Given the description of an element on the screen output the (x, y) to click on. 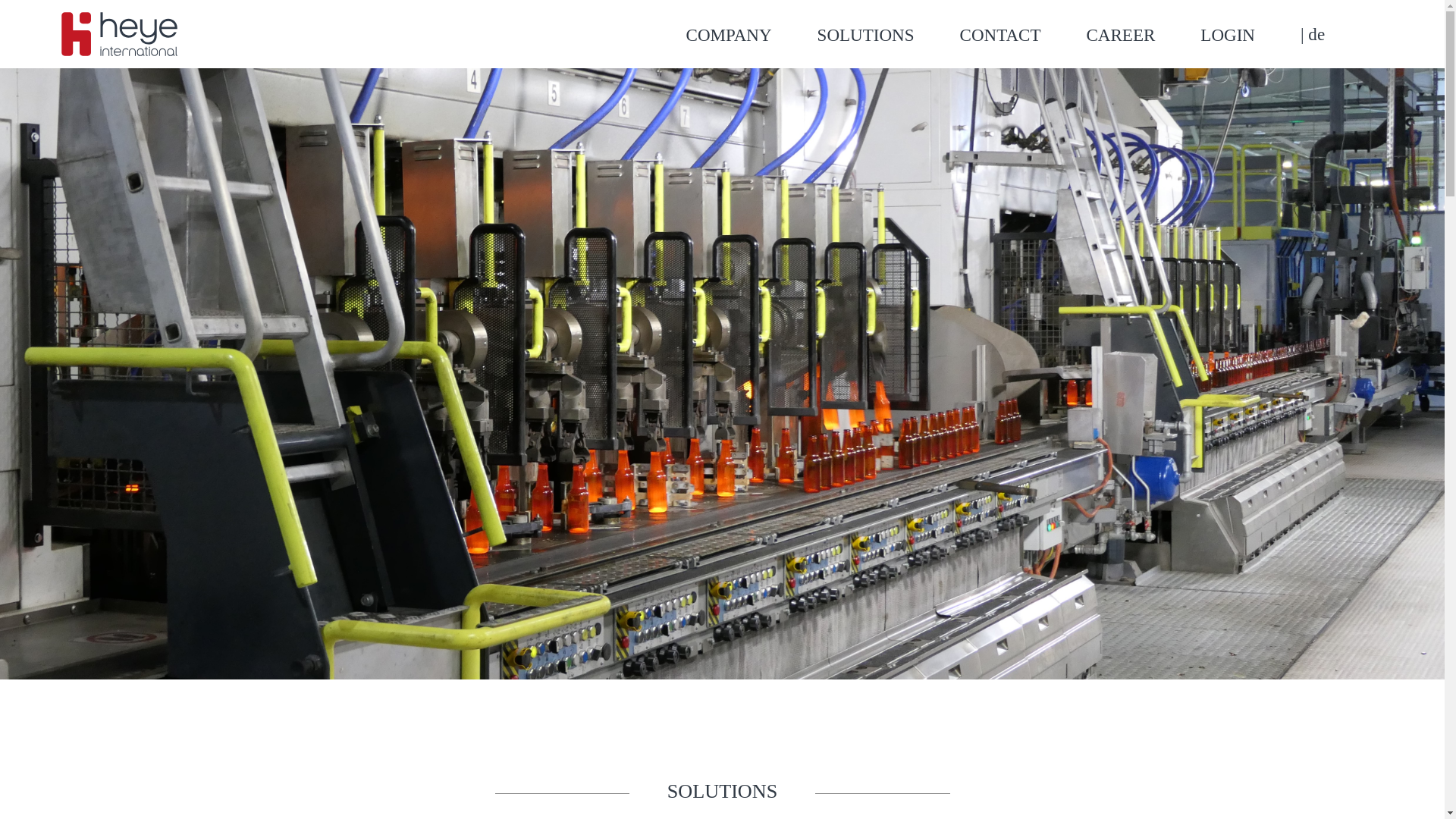
LOGIN (1249, 34)
CAREER (1142, 34)
Deutsch (1312, 34)
SOLUTIONS (887, 34)
COMPANY (750, 34)
CONTACT (1022, 34)
